Given the description of an element on the screen output the (x, y) to click on. 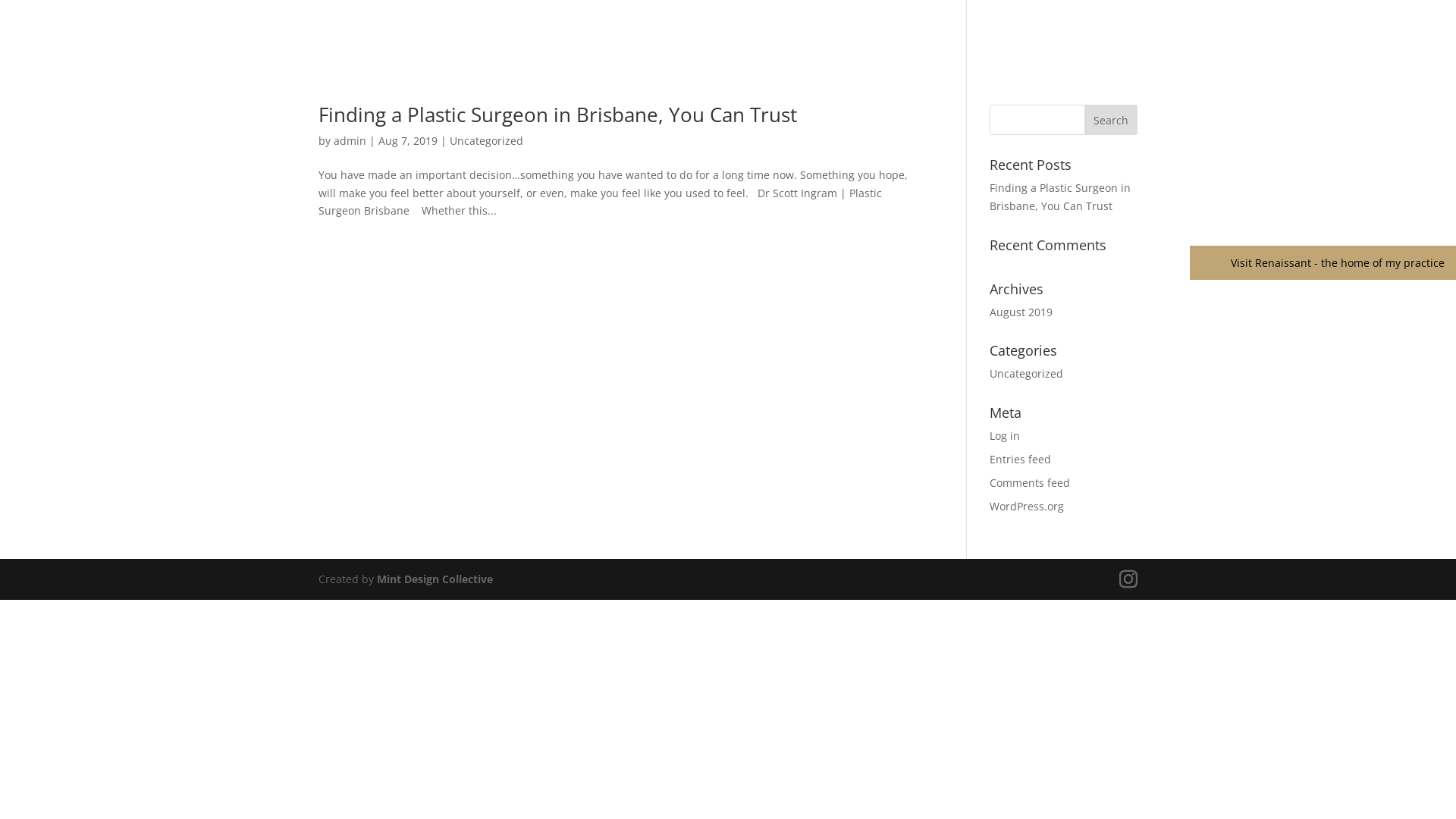
Uncategorized Element type: text (1026, 373)
Gallery Element type: text (985, 42)
Blog Element type: text (1034, 42)
Search Element type: text (1110, 119)
Mint Design Collective Element type: text (434, 578)
Finding a Plastic Surgeon in Brisbane, You Can Trust Element type: text (1059, 196)
Contact Element type: text (1086, 42)
Journey of Care Element type: text (907, 42)
Comments feed Element type: text (1029, 482)
Uncategorized Element type: text (486, 140)
Entries feed Element type: text (1020, 458)
About Element type: text (730, 42)
Home Element type: text (678, 42)
Finding a Plastic Surgeon in Brisbane, You Can Trust Element type: text (557, 114)
Log in Element type: text (1004, 435)
WordPress.org Element type: text (1026, 505)
August 2019 Element type: text (1020, 311)
admin Element type: text (349, 140)
Our Procedures Element type: text (806, 42)
